Given the description of an element on the screen output the (x, y) to click on. 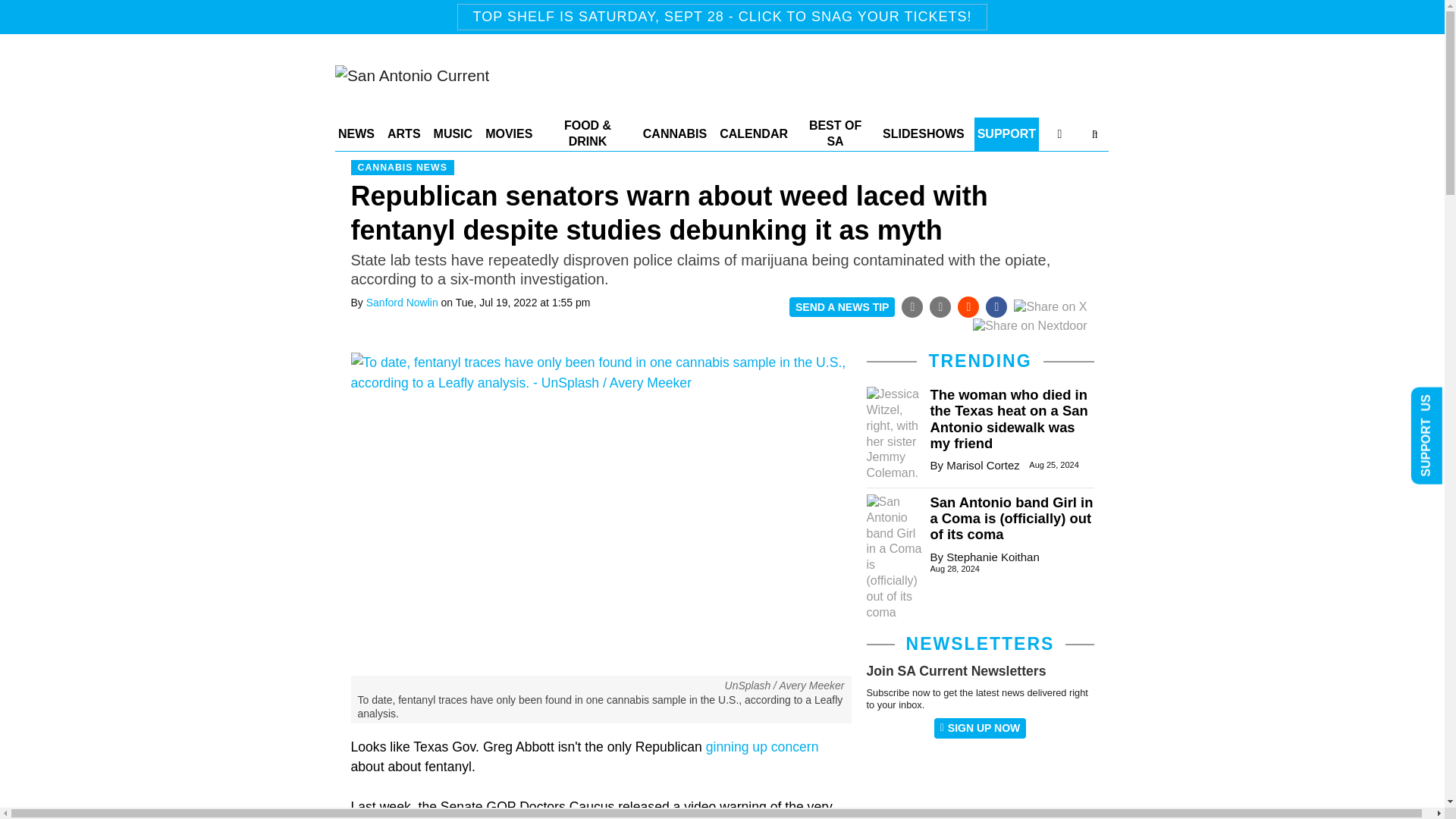
ARTS (403, 133)
San Antonio Current (411, 76)
TOP SHELF IS SATURDAY, SEPT 28 - CLICK TO SNAG YOUR TICKETS! (722, 17)
MUSIC (453, 133)
MOVIES (508, 133)
